Given the description of an element on the screen output the (x, y) to click on. 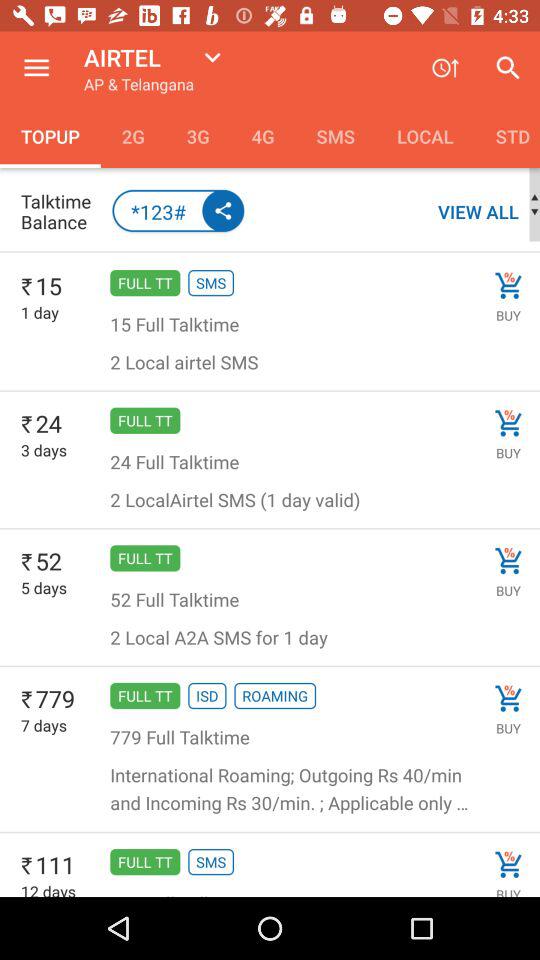
swipe until the ` item (27, 866)
